Given the description of an element on the screen output the (x, y) to click on. 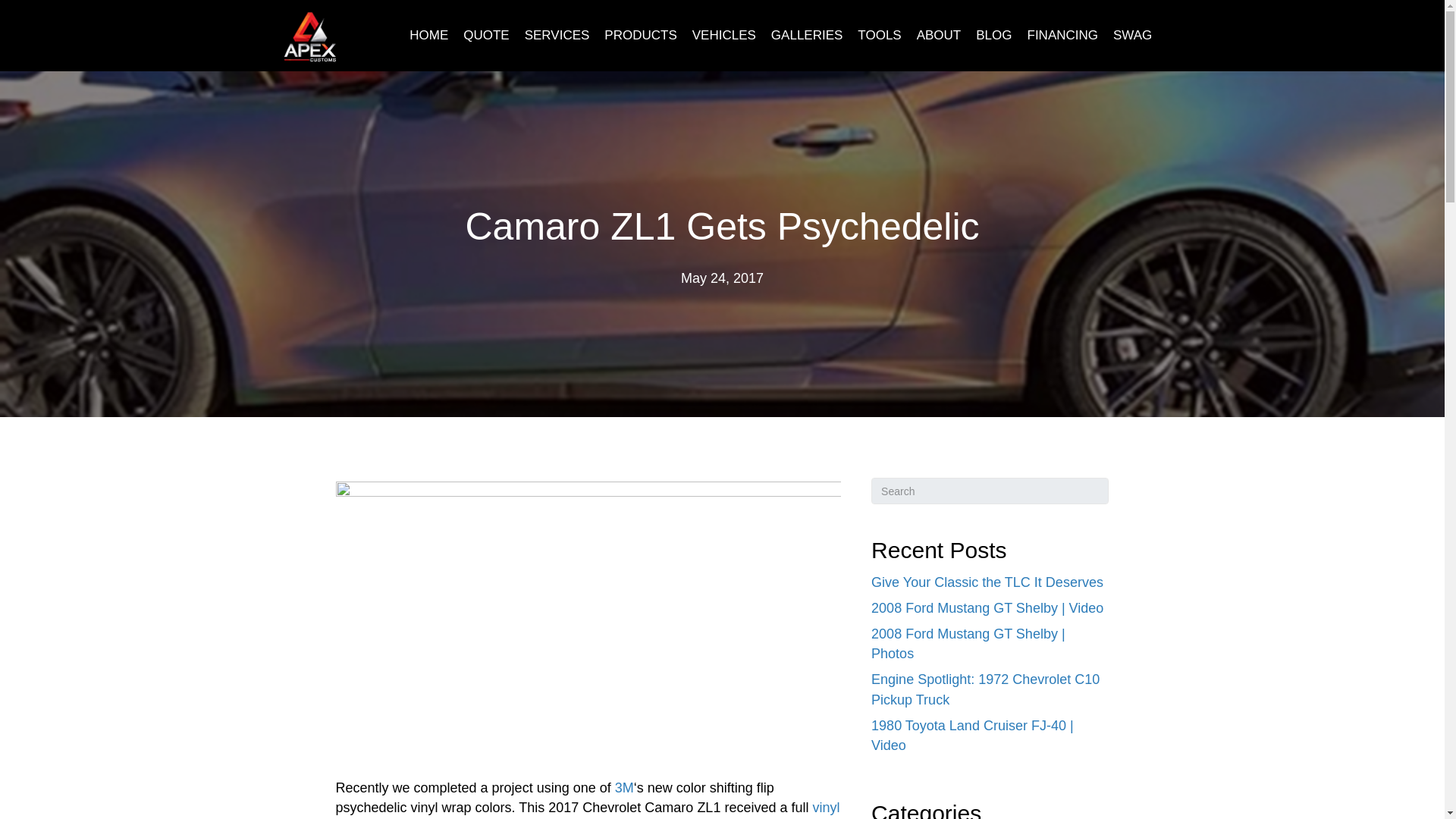
HOME (428, 35)
PRODUCTS (640, 35)
Type and press Enter to search. (989, 490)
SERVICES (556, 35)
QUOTE (485, 35)
logo (308, 37)
VEHICLES (723, 35)
GALLERIES (806, 35)
